Given the description of an element on the screen output the (x, y) to click on. 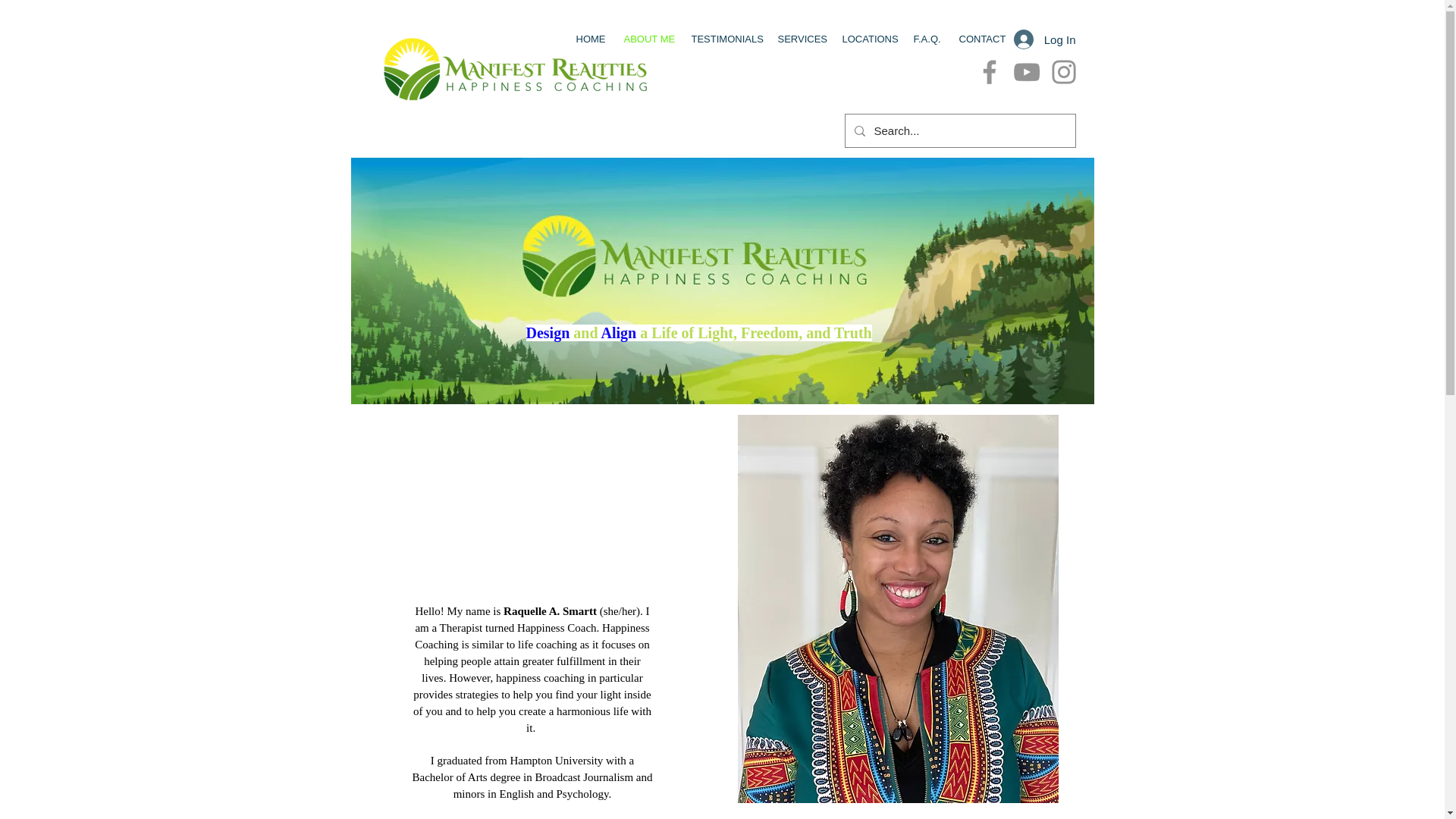
ABOUT ME (645, 39)
HOME (587, 39)
SERVICES (797, 39)
F.A.Q. (924, 39)
LOCATIONS (866, 39)
Log In (1044, 39)
CONTACT (978, 39)
TESTIMONIALS (722, 39)
